Given the description of an element on the screen output the (x, y) to click on. 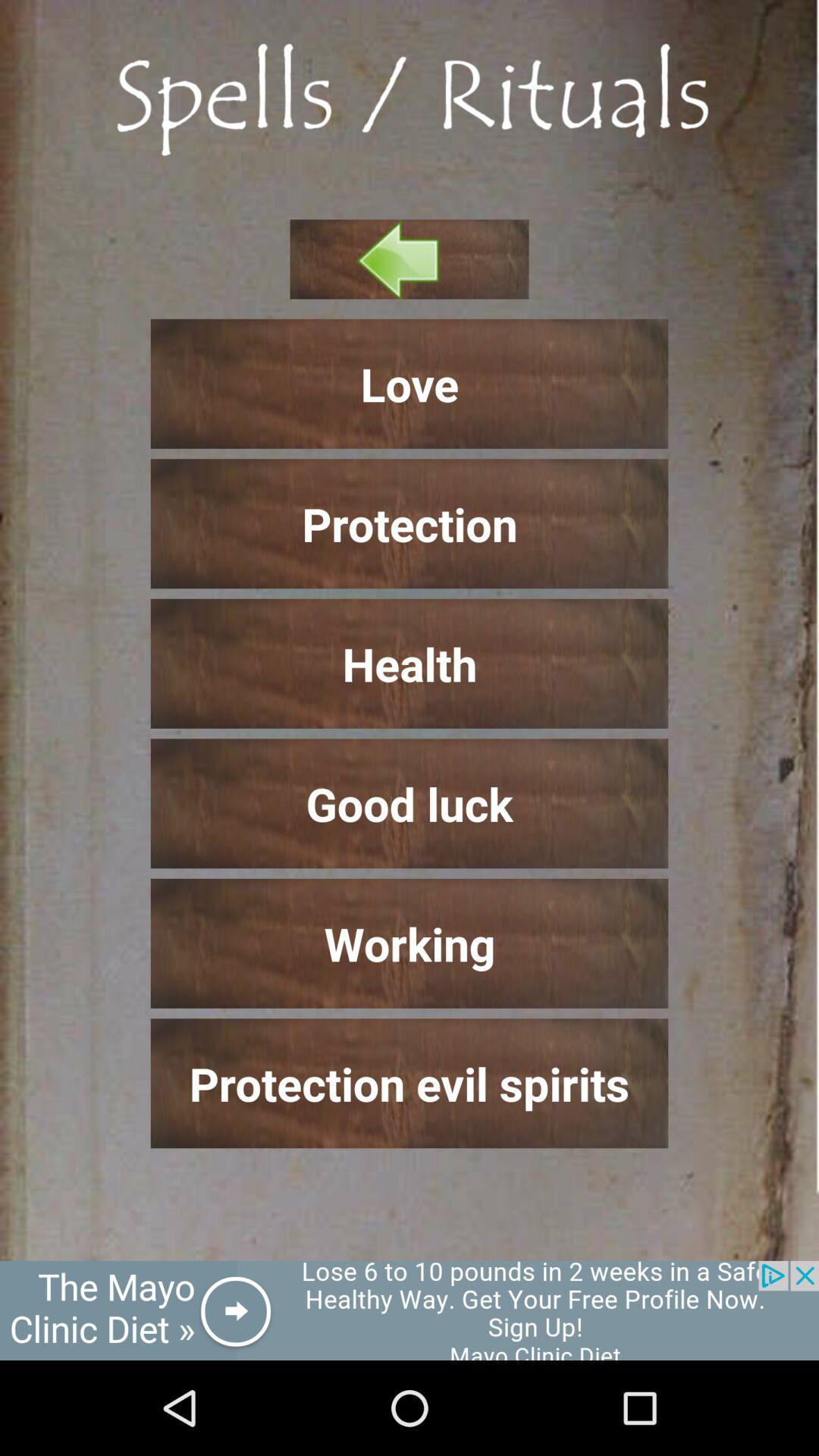
go to previous (409, 259)
